Given the description of an element on the screen output the (x, y) to click on. 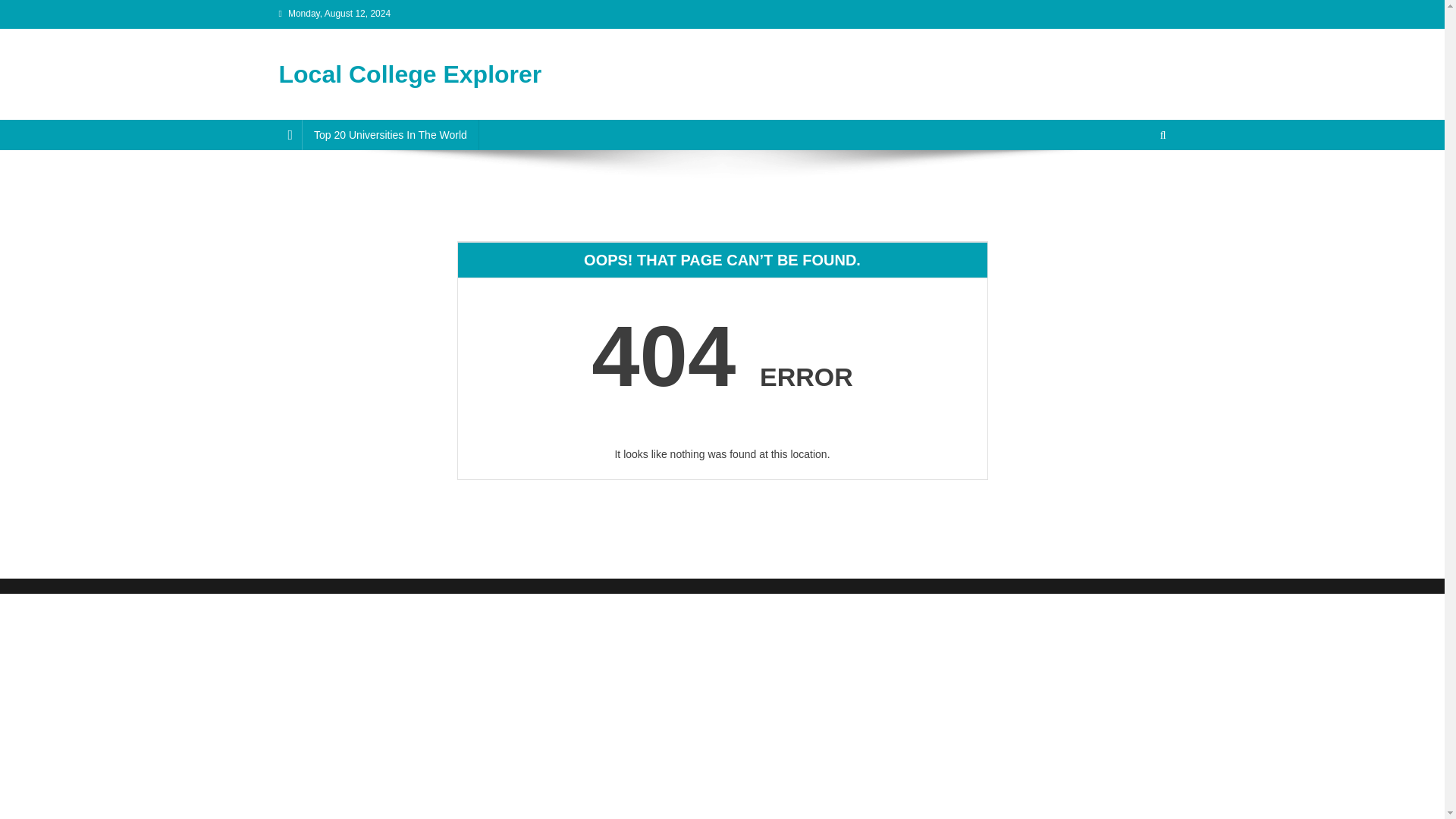
Top 20 Universities In The World (390, 134)
Local College Explorer (410, 73)
Search (1133, 185)
